Given the description of an element on the screen output the (x, y) to click on. 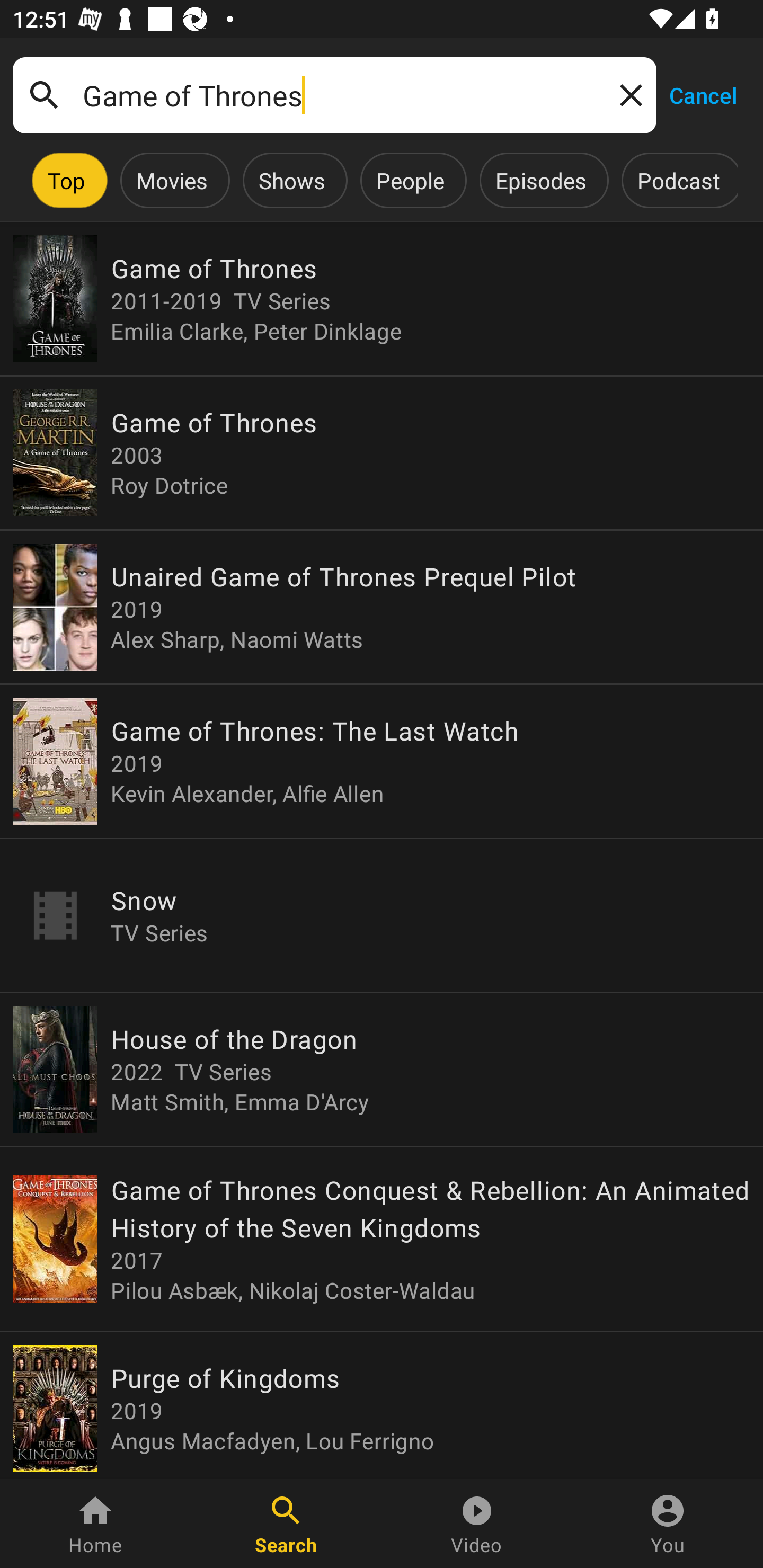
Clear query (627, 94)
Cancel (703, 94)
Game of Thrones (334, 95)
Top (66, 180)
Movies (171, 180)
Shows (291, 180)
People (410, 180)
Episodes (540, 180)
Podcast (678, 180)
Game of Thrones 2003 Roy Dotrice (381, 452)
Snow TV Series (381, 914)
Home (95, 1523)
Video (476, 1523)
You (667, 1523)
